Given the description of an element on the screen output the (x, y) to click on. 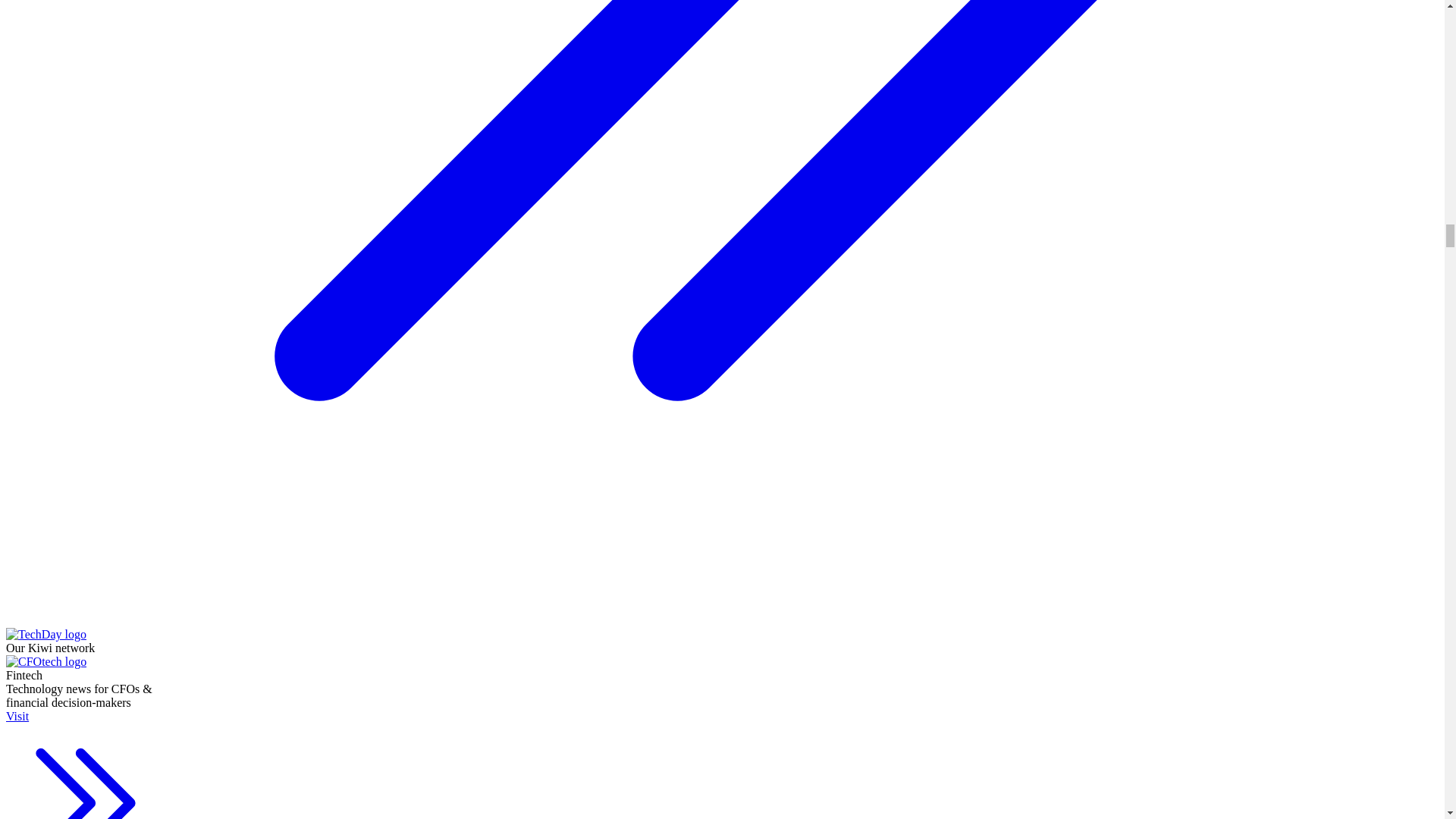
Visit (85, 764)
